Given the description of an element on the screen output the (x, y) to click on. 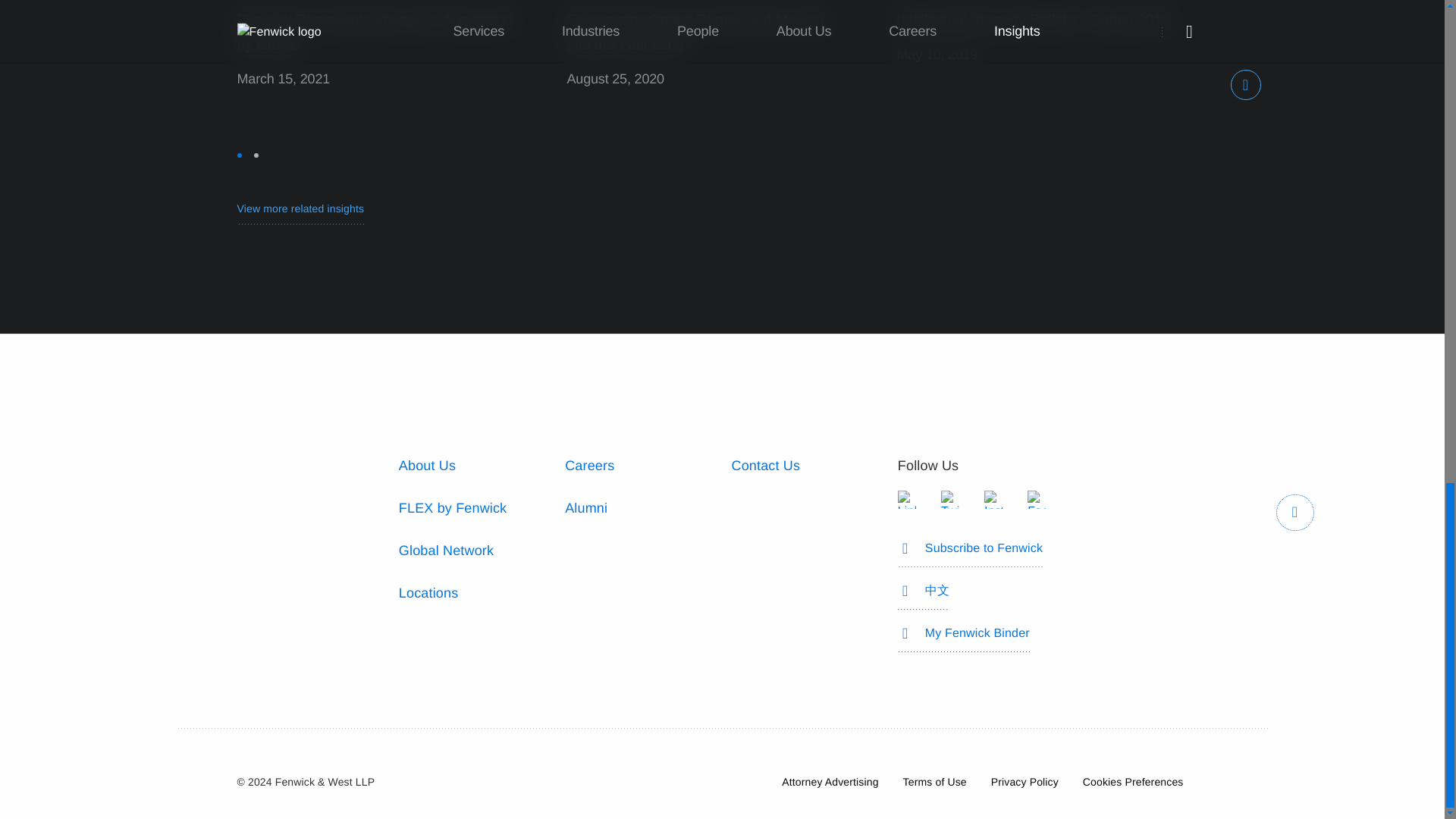
About Us (426, 465)
Careers (589, 465)
Locations (428, 592)
Global Network (445, 549)
Contact Us (764, 465)
Alumni (585, 507)
FLEX by Fenwick (452, 507)
